Given the description of an element on the screen output the (x, y) to click on. 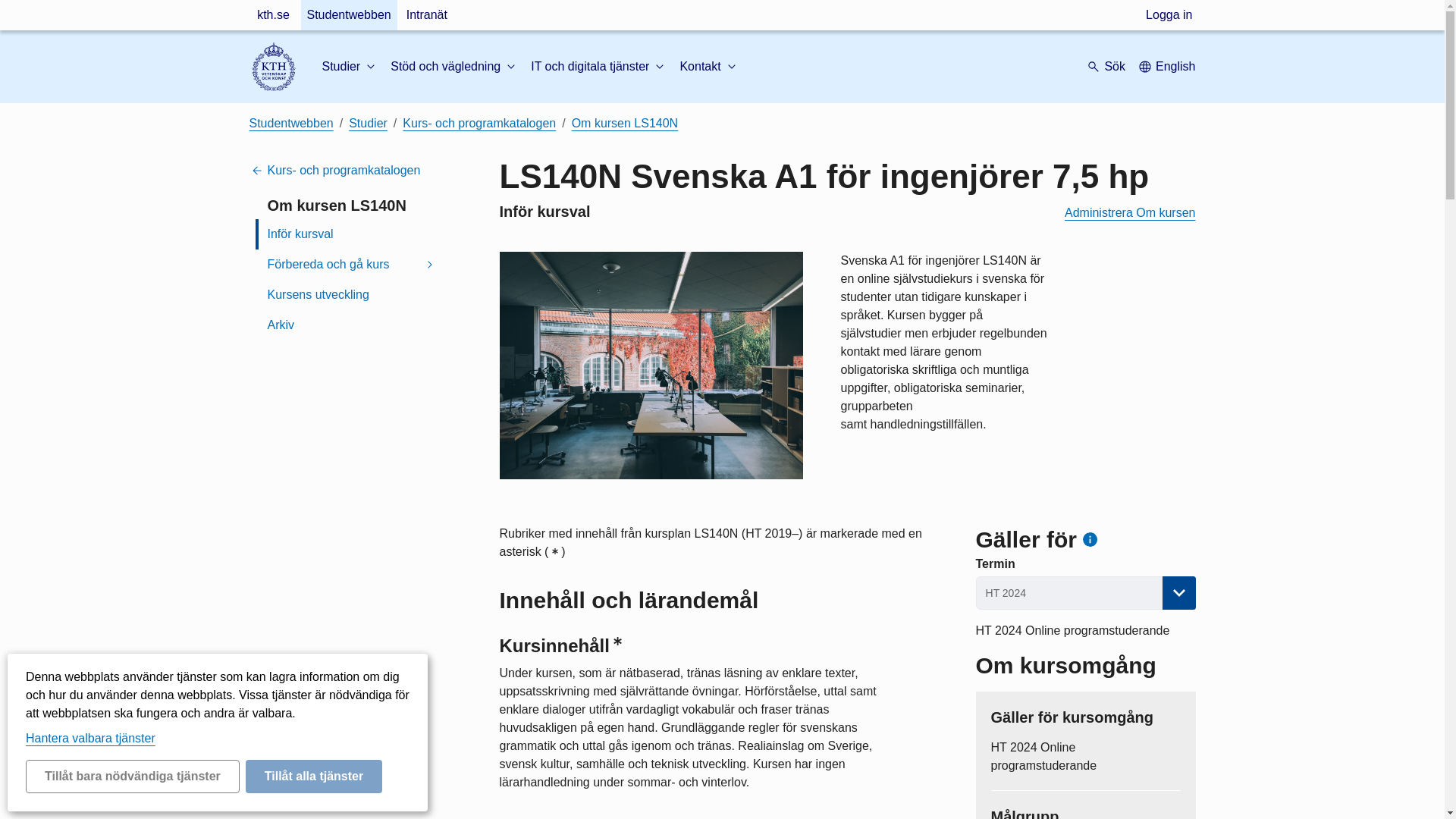
Administrera Om kursen (1129, 212)
Studentwebben (347, 15)
Logga in (1168, 15)
Kontakt (708, 66)
Studier (349, 66)
kth.se (272, 15)
